Given the description of an element on the screen output the (x, y) to click on. 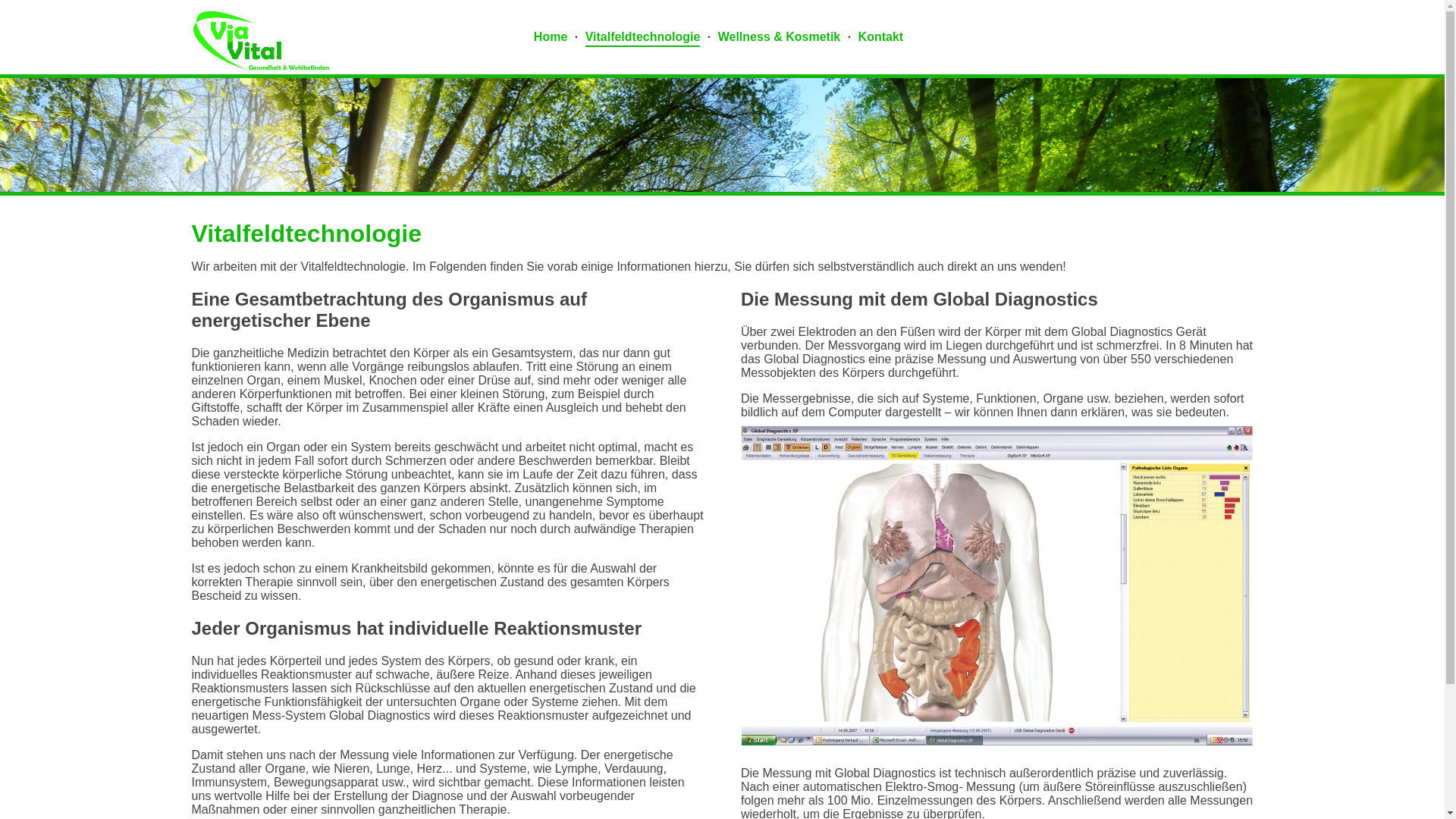
Home Element type: text (550, 37)
Kontakt Element type: text (880, 37)
Wellness & Kosmetik Element type: text (779, 37)
